Given the description of an element on the screen output the (x, y) to click on. 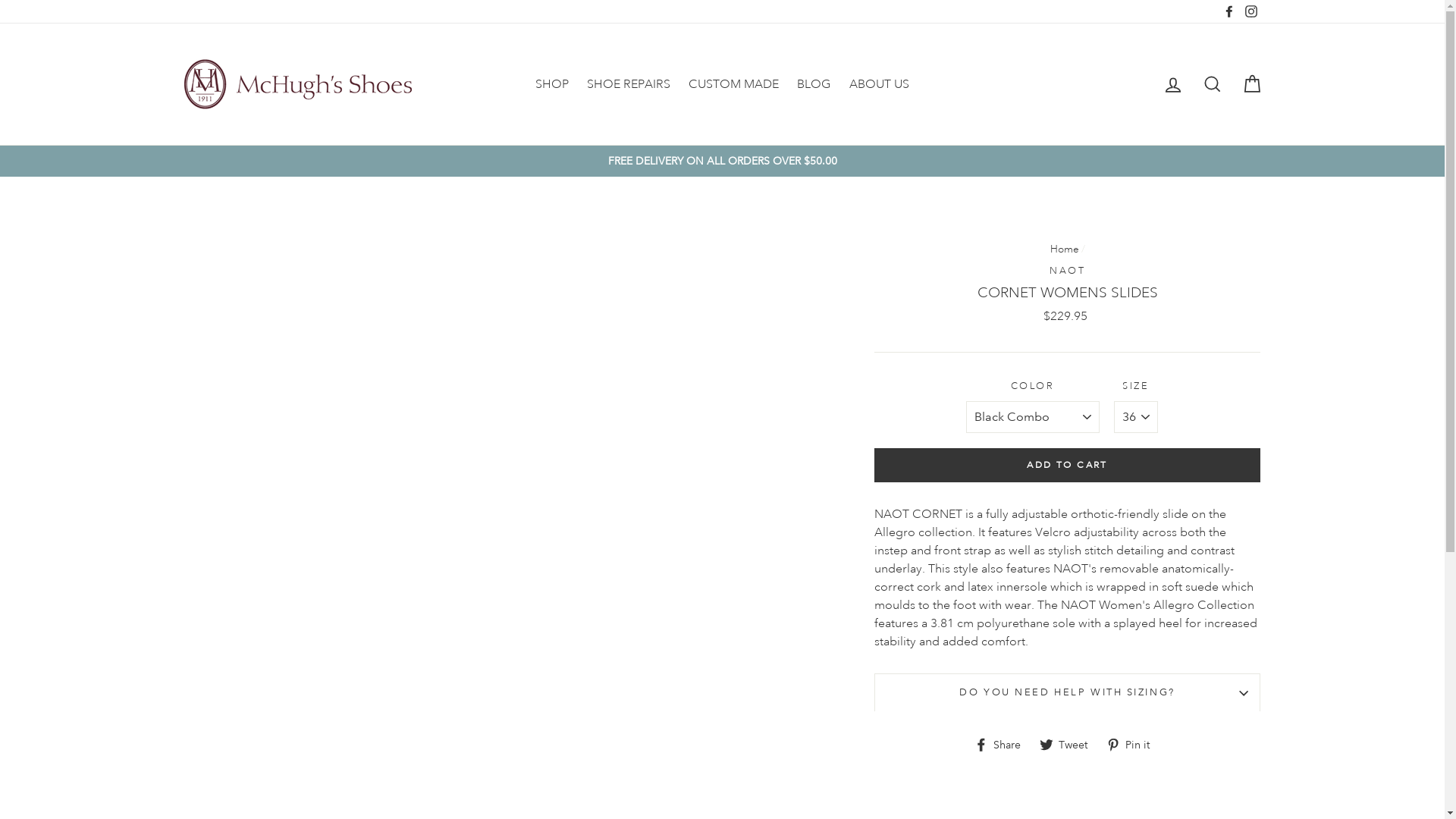
BLOG Element type: text (813, 84)
CART Element type: text (1251, 84)
Facebook Element type: text (1229, 11)
Instagram Element type: text (1250, 11)
ADD TO CART Element type: text (1067, 465)
SHOP Element type: text (551, 84)
SHOE REPAIRS Element type: text (628, 84)
Skip to content Element type: text (0, 0)
Home Element type: text (1064, 248)
ABOUT US Element type: text (878, 84)
DO YOU NEED HELP WITH SIZING? Element type: text (1067, 692)
Tweet
Tweet on Twitter Element type: text (1068, 742)
Pin it
Pin on Pinterest Element type: text (1133, 742)
Share
Share on Facebook Element type: text (1003, 742)
CUSTOM MADE Element type: text (733, 84)
